Given the description of an element on the screen output the (x, y) to click on. 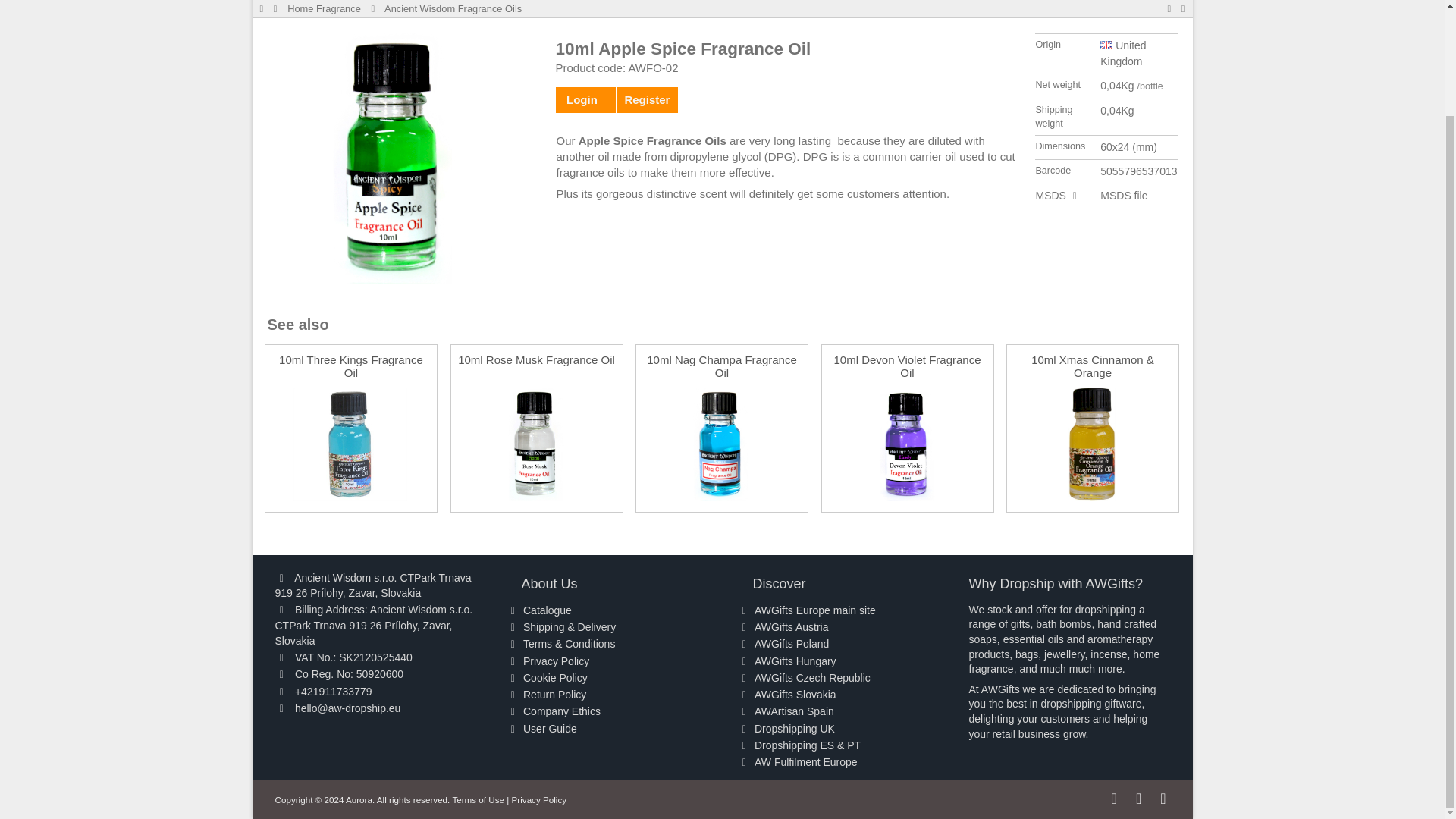
Material safety data sheet (1050, 195)
GBR (1106, 44)
